Given the description of an element on the screen output the (x, y) to click on. 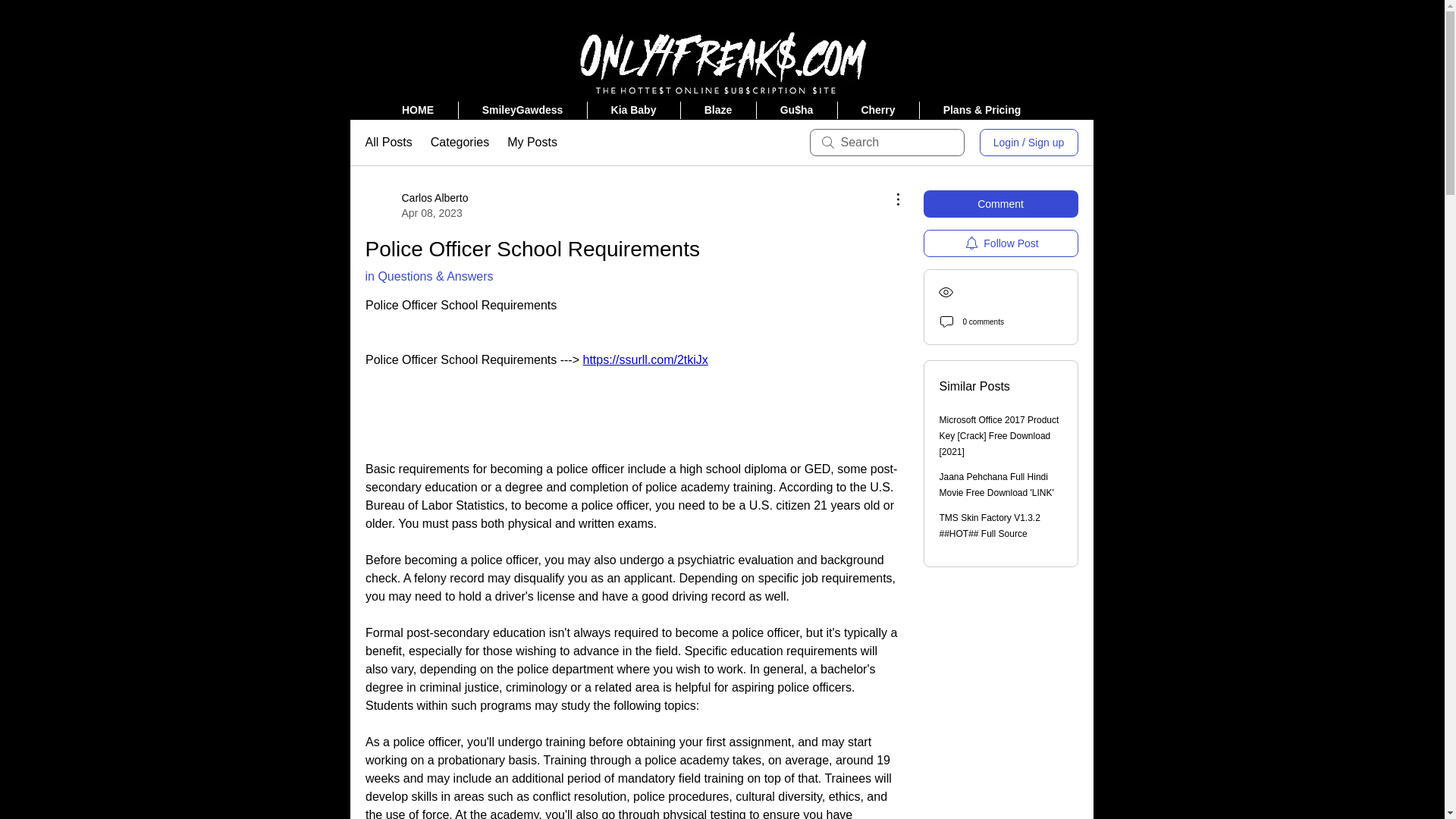
Jaana Pehchana Full Hindi Movie Free Download 'LINK' (995, 484)
Follow Post (1000, 243)
All Posts (388, 142)
Cherry (877, 109)
Comment (1000, 203)
Blaze (718, 109)
Categories (459, 142)
Kia Baby (632, 109)
SmileyGawdess (522, 109)
HOME (417, 109)
My Posts (531, 142)
